Given the description of an element on the screen output the (x, y) to click on. 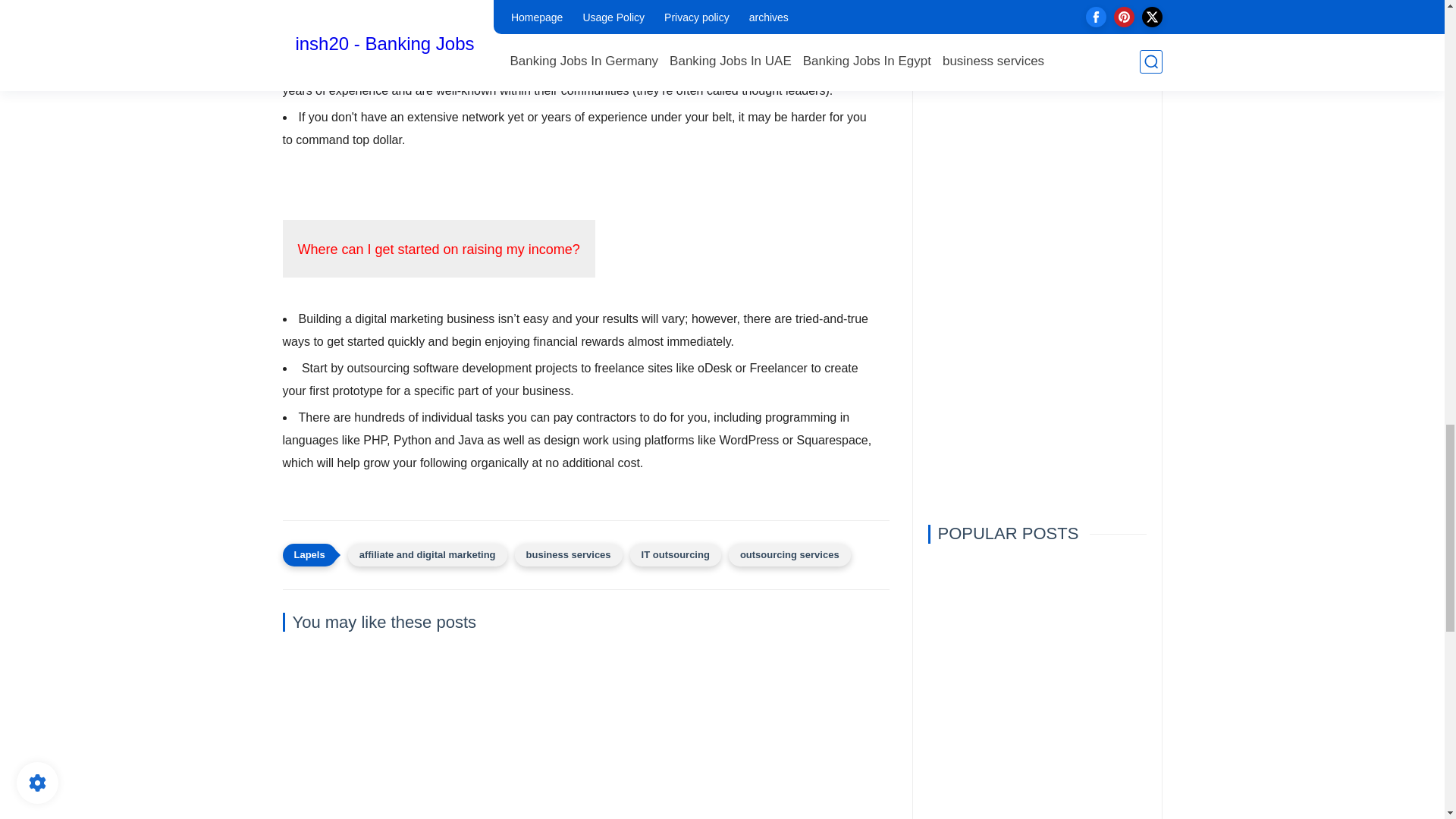
affiliate and digital marketing (426, 554)
affiliate and digital marketing (426, 554)
IT outsourcing (675, 554)
business services (569, 554)
outsourcing services (789, 554)
